Given the description of an element on the screen output the (x, y) to click on. 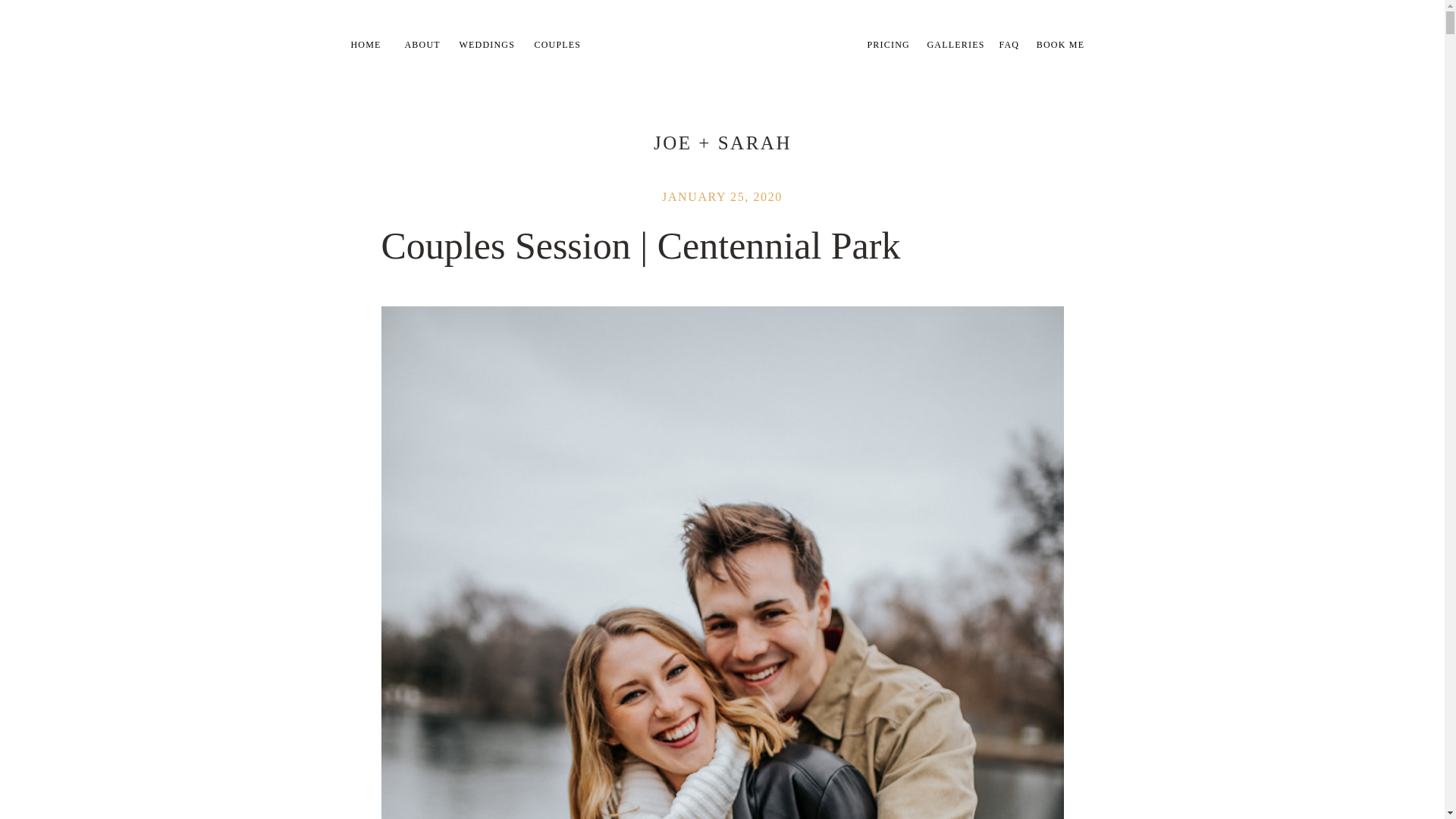
ABOUT (423, 44)
BOOK ME (1059, 43)
WEDDINGS (489, 44)
HOME (369, 44)
PRICING (889, 44)
FAQ (1010, 44)
GALLERIES (956, 44)
COUPLES (561, 44)
